Given the description of an element on the screen output the (x, y) to click on. 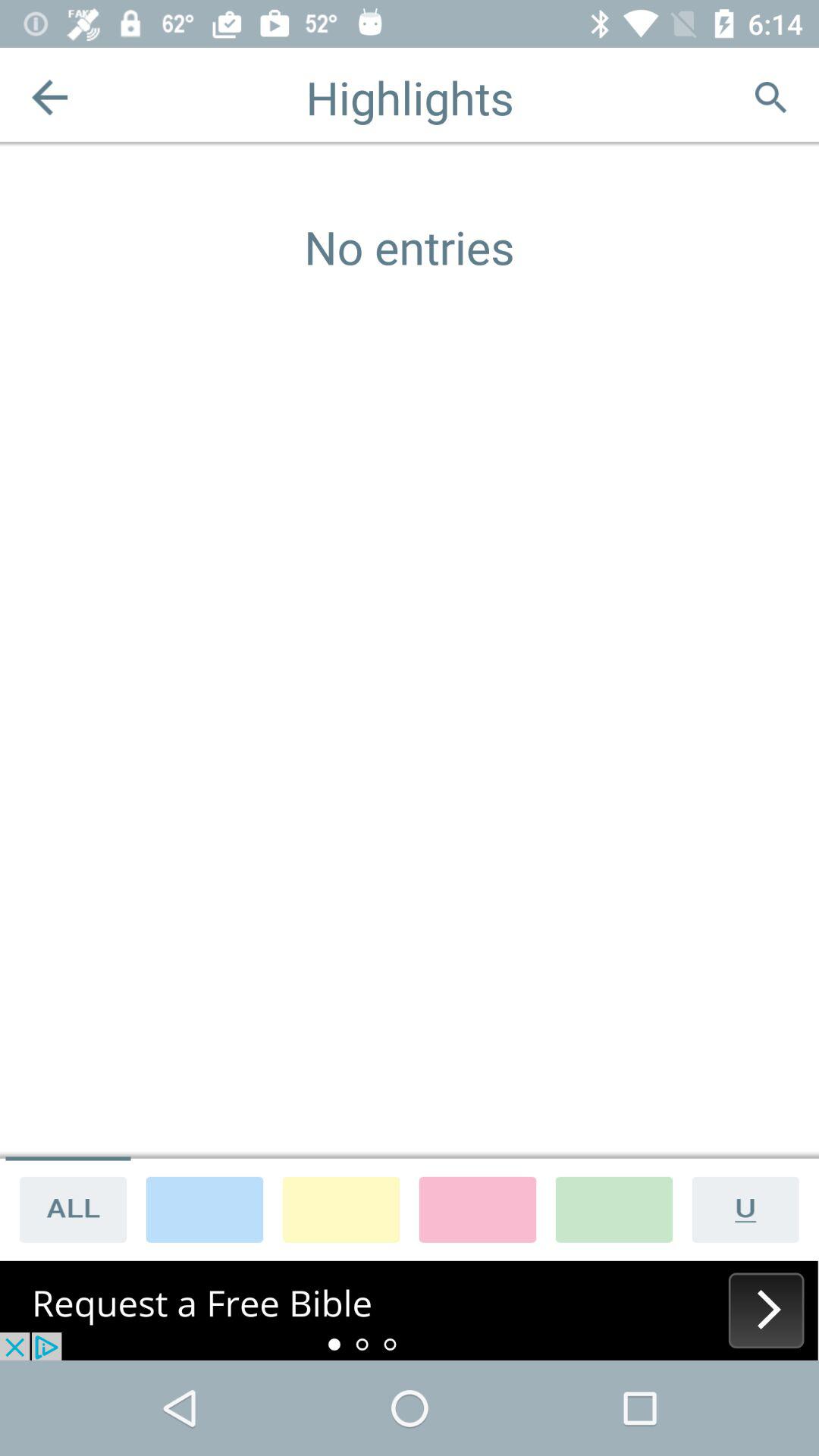
go back (49, 97)
